Given the description of an element on the screen output the (x, y) to click on. 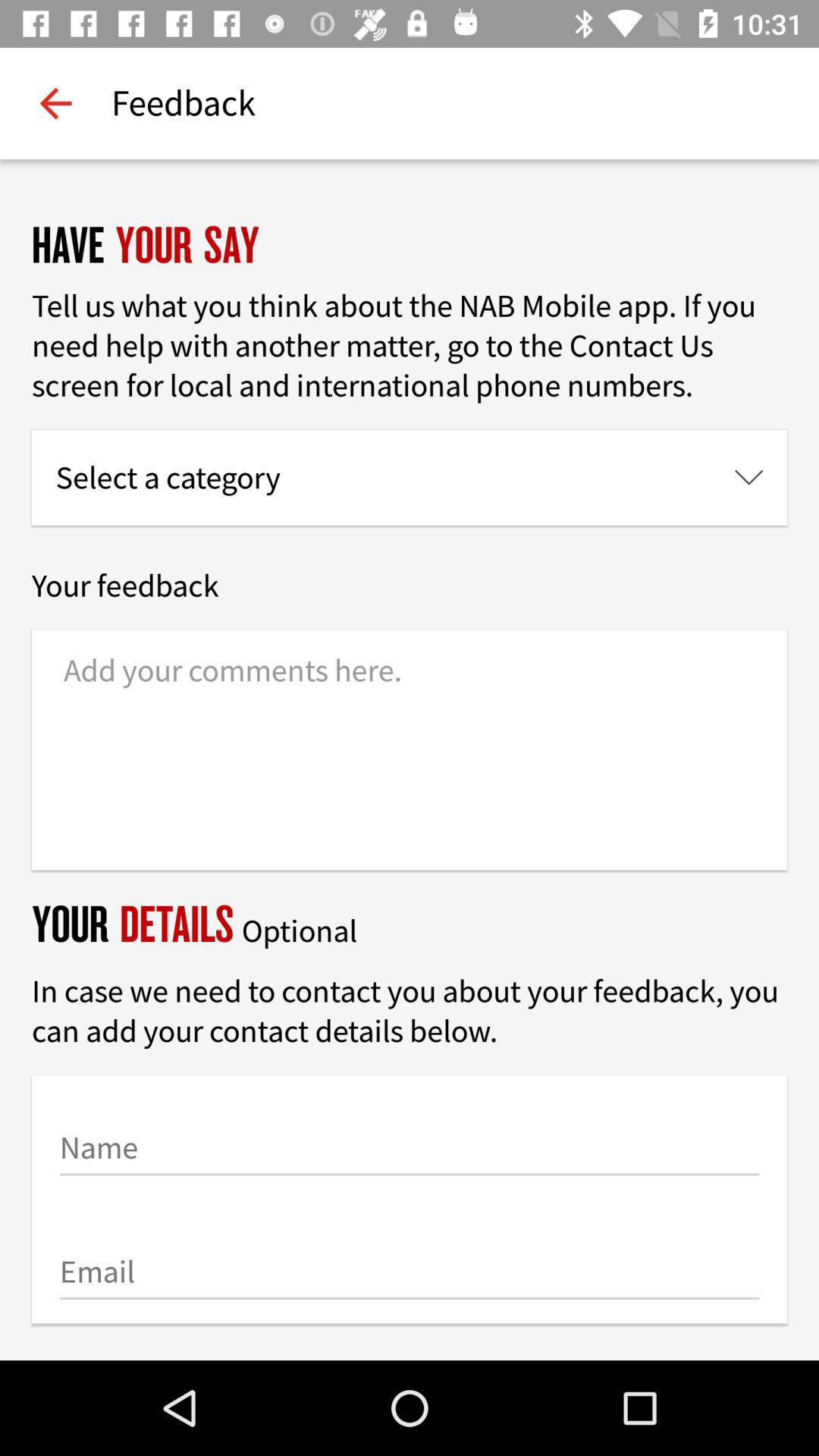
write your comments (409, 750)
